Given the description of an element on the screen output the (x, y) to click on. 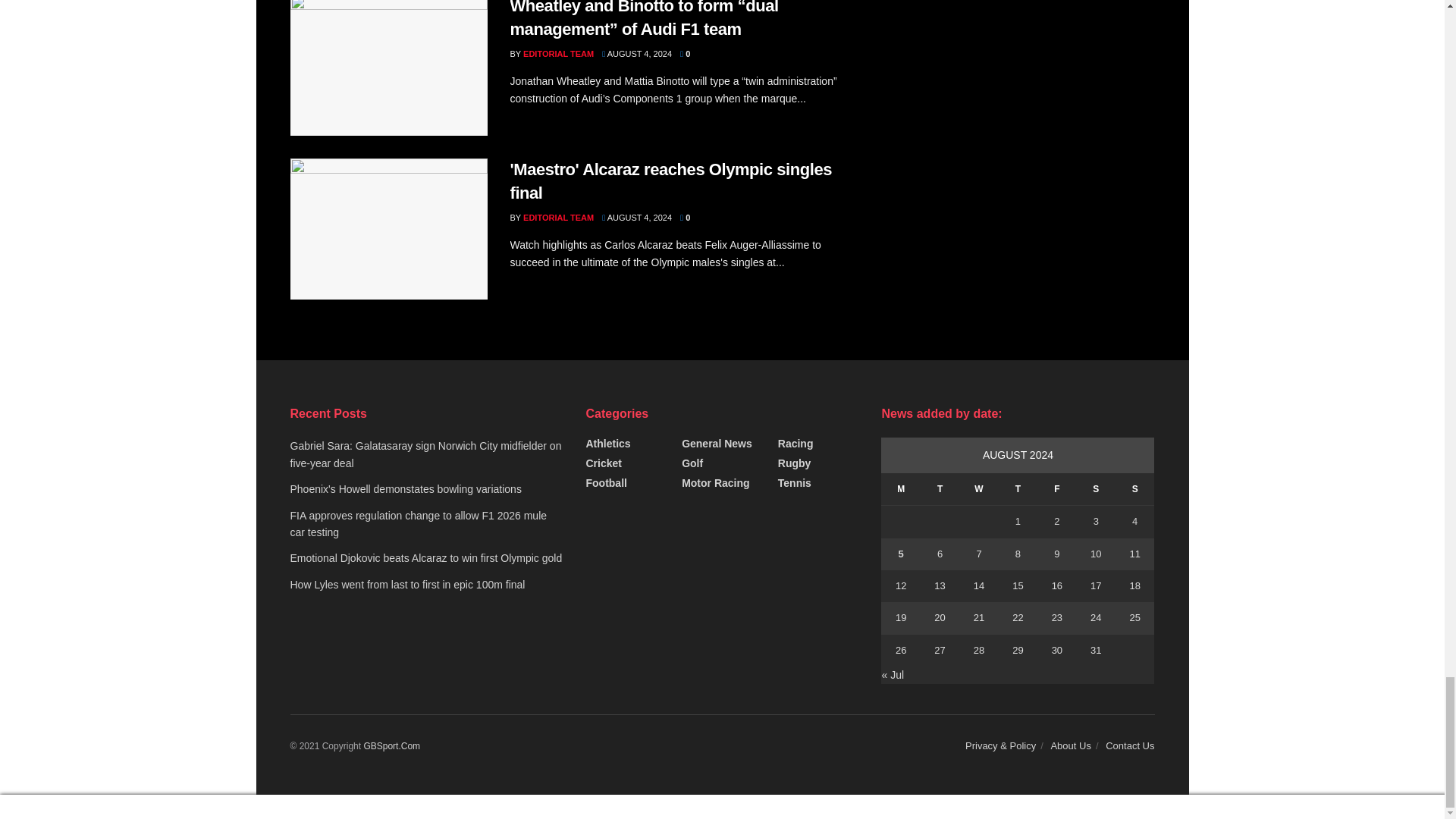
Thursday (1017, 489)
Tuesday (939, 489)
Wednesday (978, 489)
Friday (1055, 489)
Sunday (1134, 489)
Monday (900, 489)
Saturday (1096, 489)
